Given the description of an element on the screen output the (x, y) to click on. 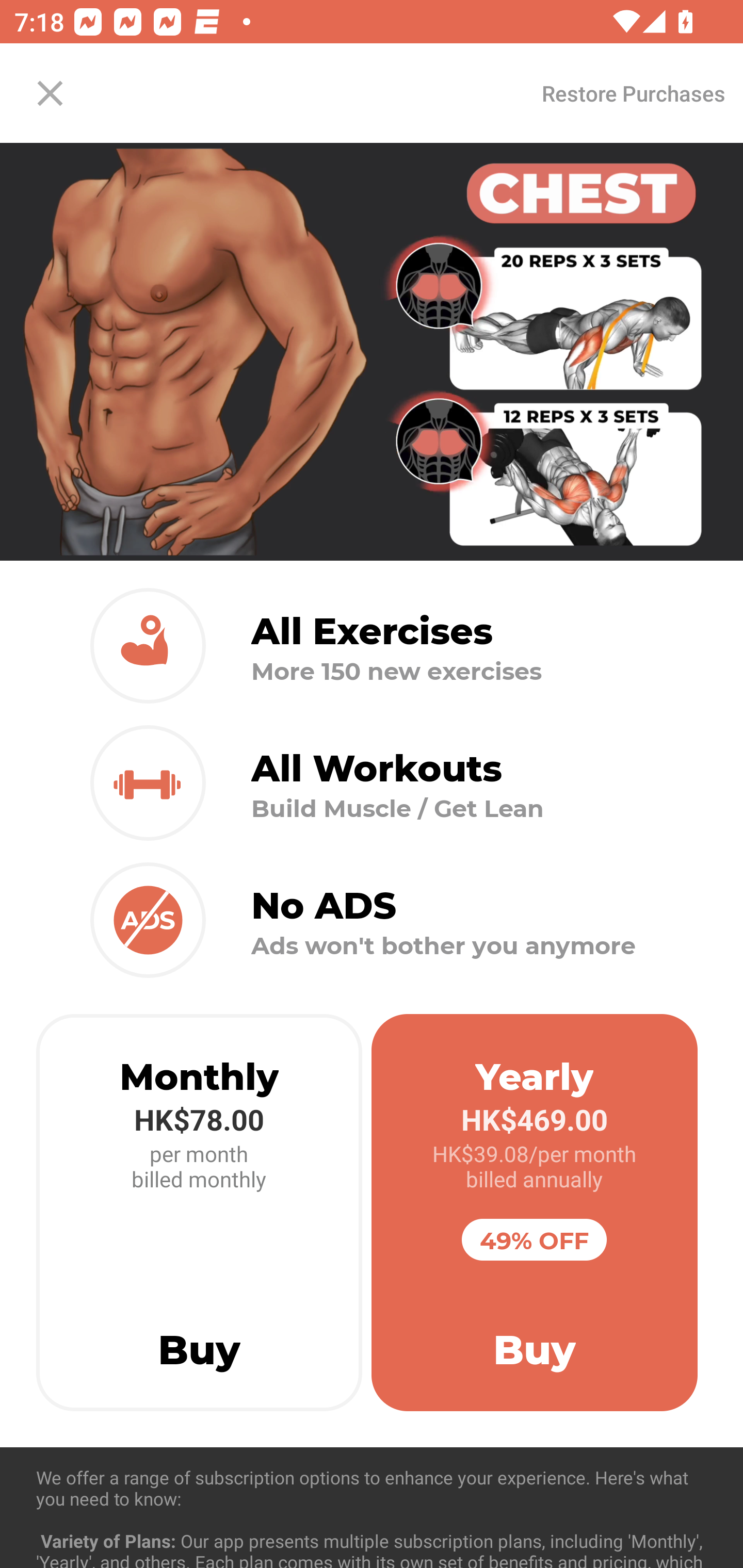
Restore Purchases (632, 92)
Monthly HK$78.00 per month
billed monthly Buy (199, 1212)
